Given the description of an element on the screen output the (x, y) to click on. 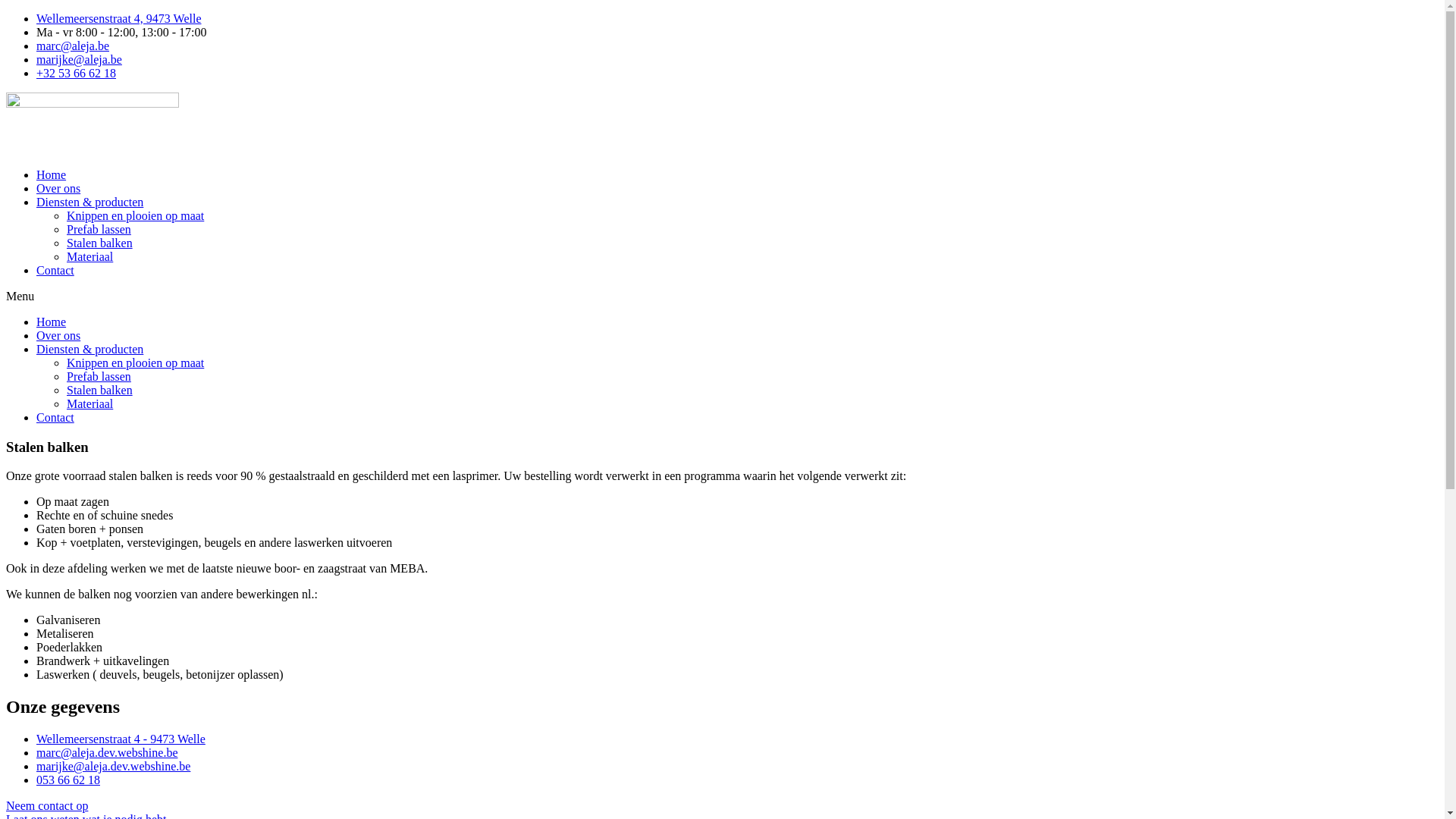
+32 53 66 62 18 Element type: text (76, 72)
Knippen en plooien op maat Element type: text (134, 362)
Materiaal Element type: text (89, 256)
Home Element type: text (50, 174)
Diensten & producten Element type: text (89, 201)
Stalen balken Element type: text (99, 389)
Ga naar inhoud Element type: text (5, 11)
Over ons Element type: text (58, 335)
marc@aleja.dev.webshine.be Element type: text (107, 752)
Over ons Element type: text (58, 188)
Contact Element type: text (55, 269)
Prefab lassen Element type: text (98, 228)
Wellemeersenstraat 4, 9473 Welle Element type: text (118, 18)
marijke@aleja.be Element type: text (79, 59)
marc@aleja.be Element type: text (72, 45)
053 66 62 18 Element type: text (68, 779)
Diensten & producten Element type: text (89, 348)
Stalen balken Element type: text (99, 242)
Home Element type: text (50, 321)
Knippen en plooien op maat Element type: text (134, 215)
Neem contact op Element type: text (46, 805)
marijke@aleja.dev.webshine.be Element type: text (113, 765)
Prefab lassen Element type: text (98, 376)
Contact Element type: text (55, 417)
Materiaal Element type: text (89, 403)
Wellemeersenstraat 4 - 9473 Welle Element type: text (120, 738)
